Given the description of an element on the screen output the (x, y) to click on. 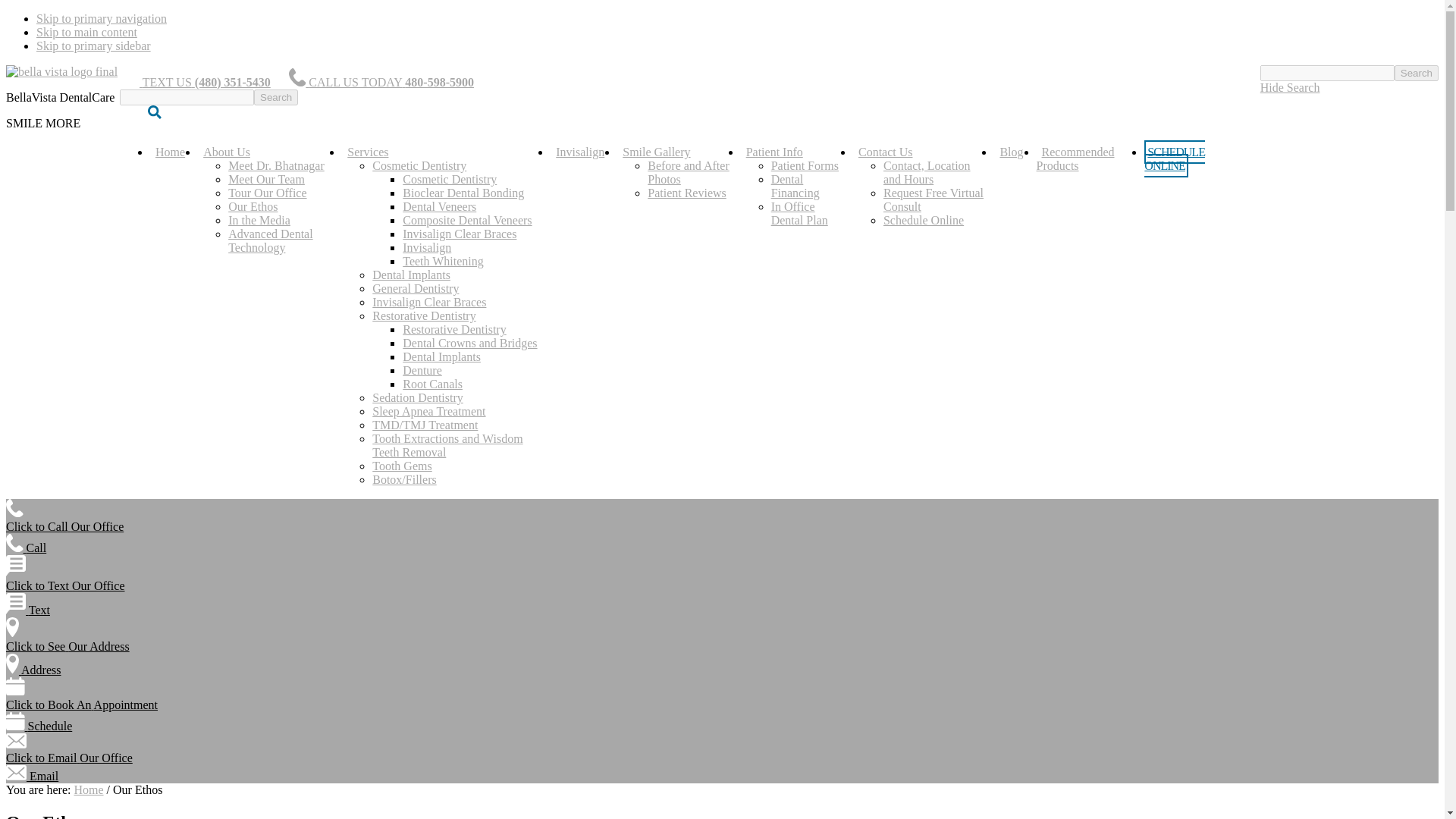
Home (169, 151)
Restorative Dentistry (454, 328)
Tooth Gems (401, 465)
Sedation Dentistry (417, 397)
Tour Our Office (266, 192)
Dental Implants (441, 356)
Bioclear Dental Bonding (463, 192)
Root Canals (433, 383)
Invisalign Clear Braces (459, 233)
Invisalign Clear Braces (429, 301)
